Given the description of an element on the screen output the (x, y) to click on. 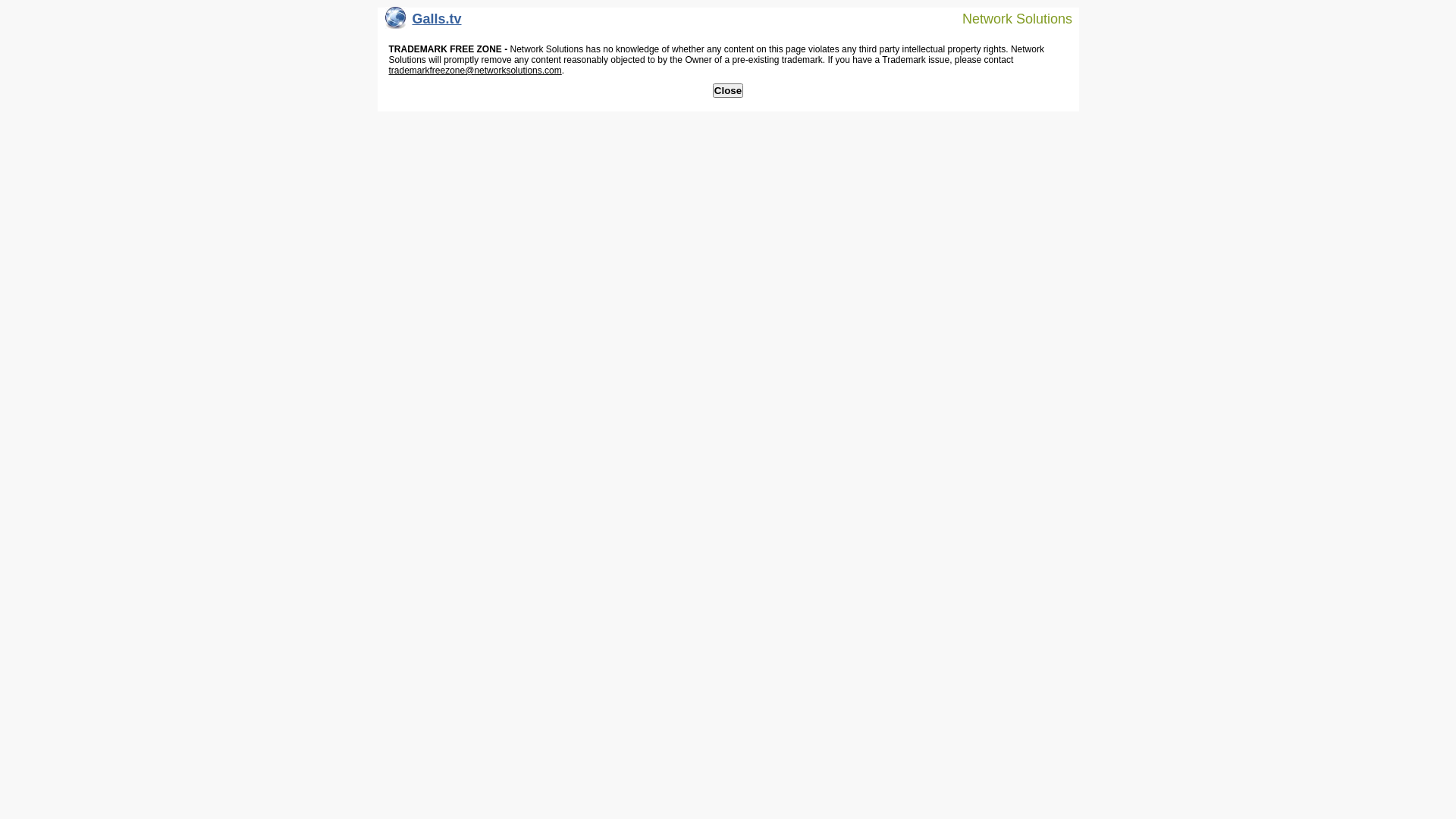
trademarkfreezone@networksolutions.com Element type: text (474, 70)
Network Solutions Element type: text (1007, 17)
Galls.tv Element type: text (423, 21)
Close Element type: text (727, 90)
